Given the description of an element on the screen output the (x, y) to click on. 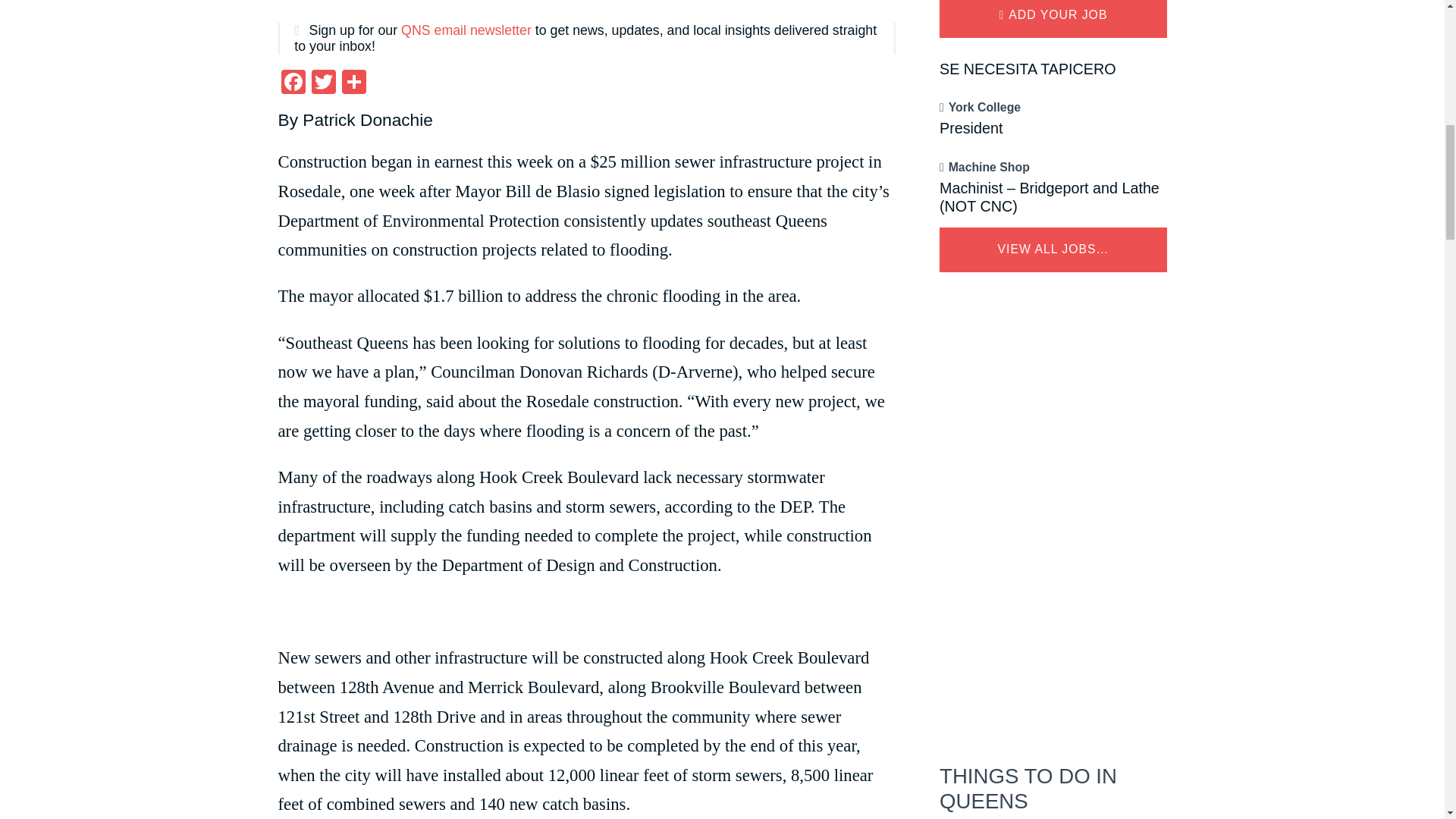
Facebook (292, 83)
Twitter (322, 83)
